Given the description of an element on the screen output the (x, y) to click on. 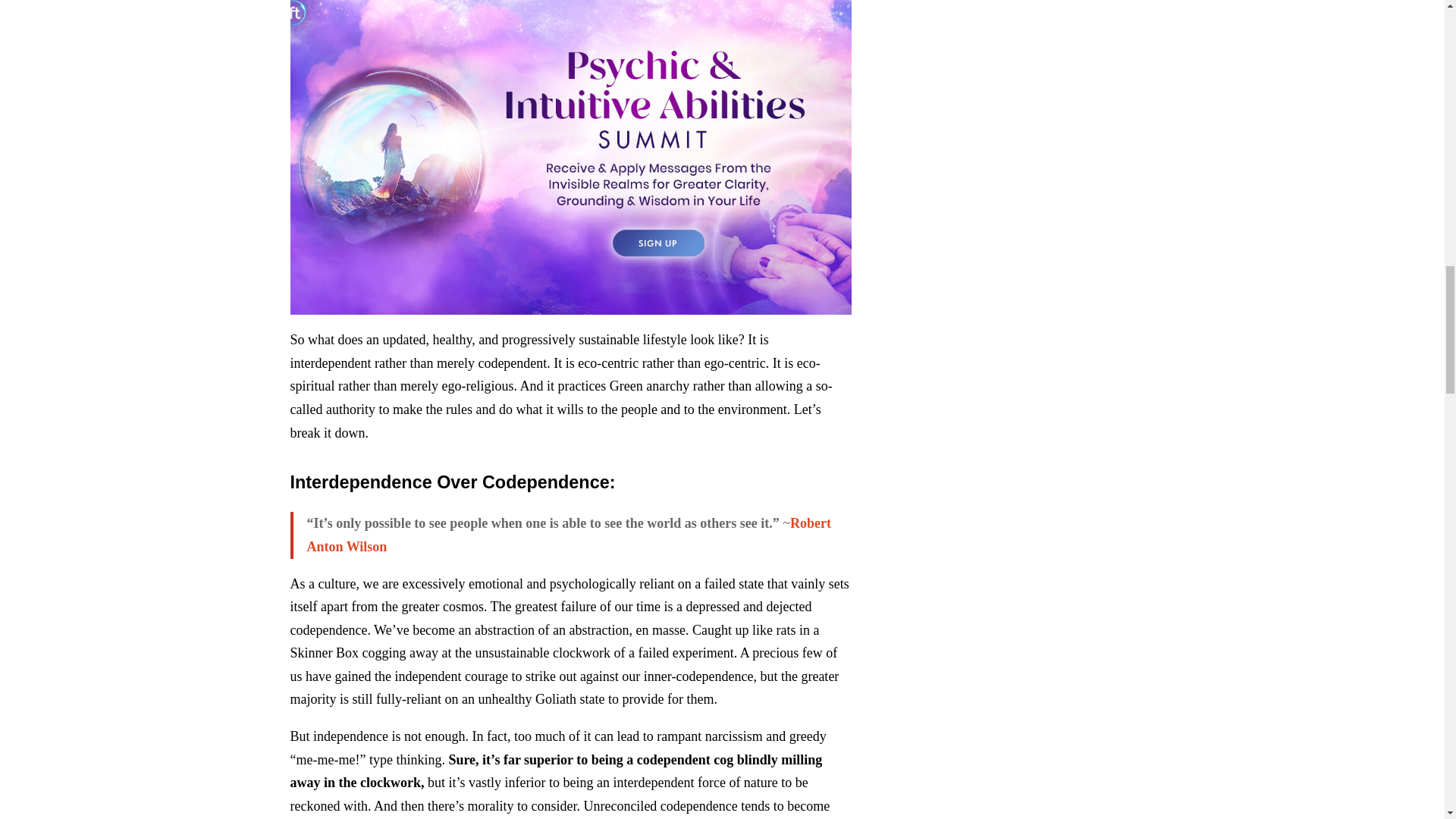
Robert Anton Wilson (568, 534)
